Given the description of an element on the screen output the (x, y) to click on. 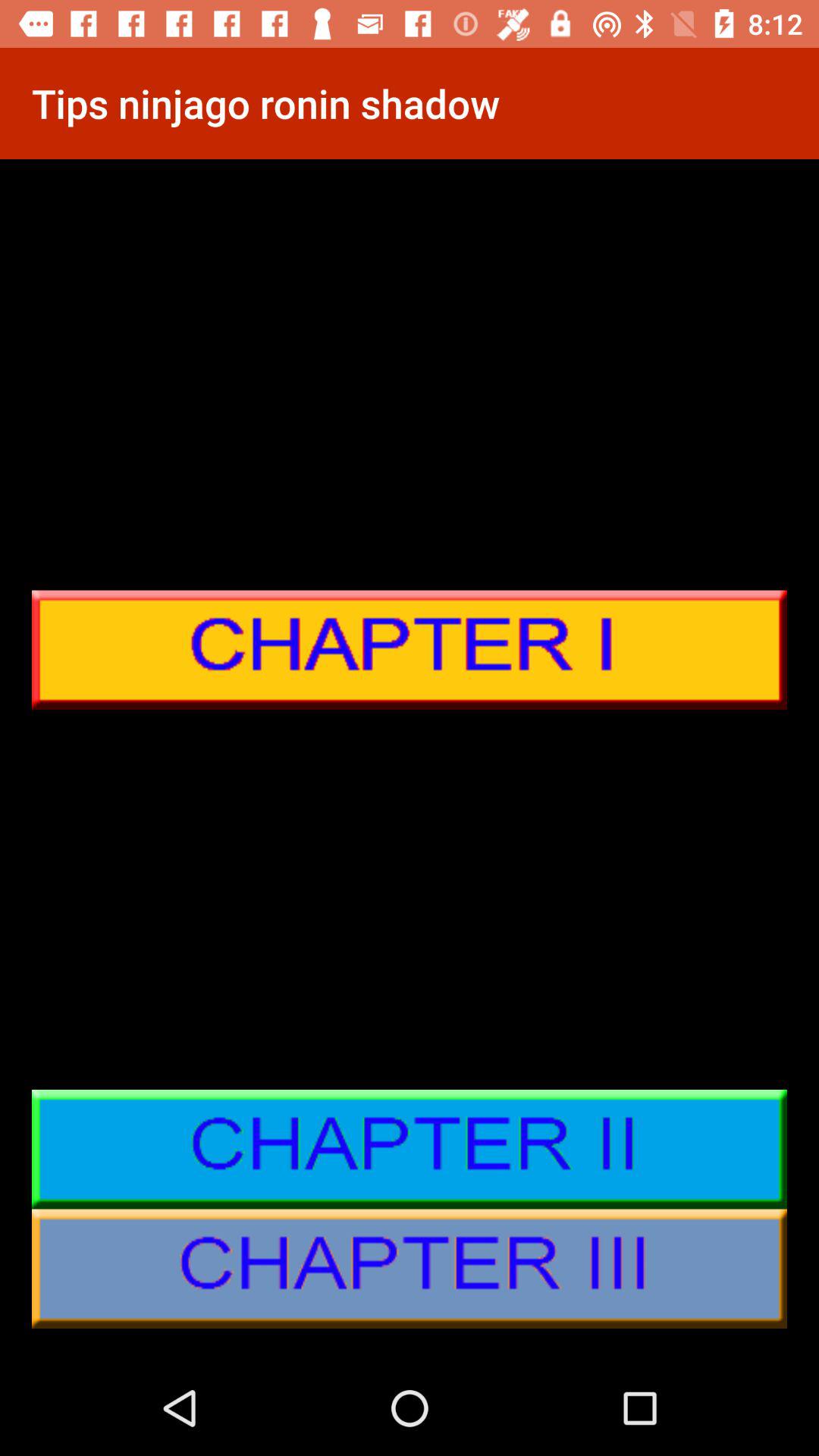
go to chapter 1 (409, 649)
